Given the description of an element on the screen output the (x, y) to click on. 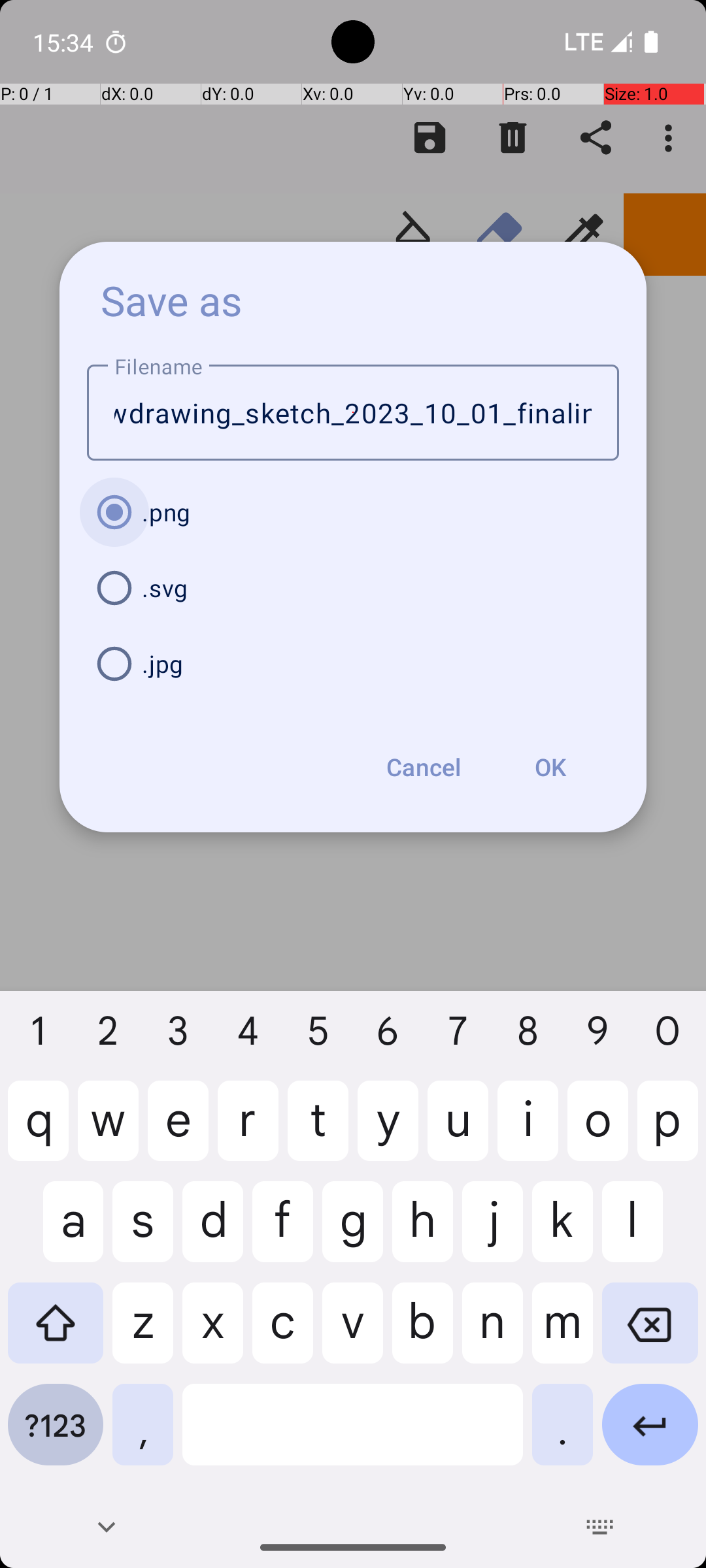
Save as Element type: android.widget.TextView (171, 299)
image_2023_10_1drawdrawing_sketch_2023_10_01_finaling_sketch_20235_15_34_11 Element type: android.widget.EditText (352, 412)
.png Element type: android.widget.RadioButton (352, 512)
.svg Element type: android.widget.RadioButton (352, 587)
.jpg Element type: android.widget.RadioButton (352, 663)
